Given the description of an element on the screen output the (x, y) to click on. 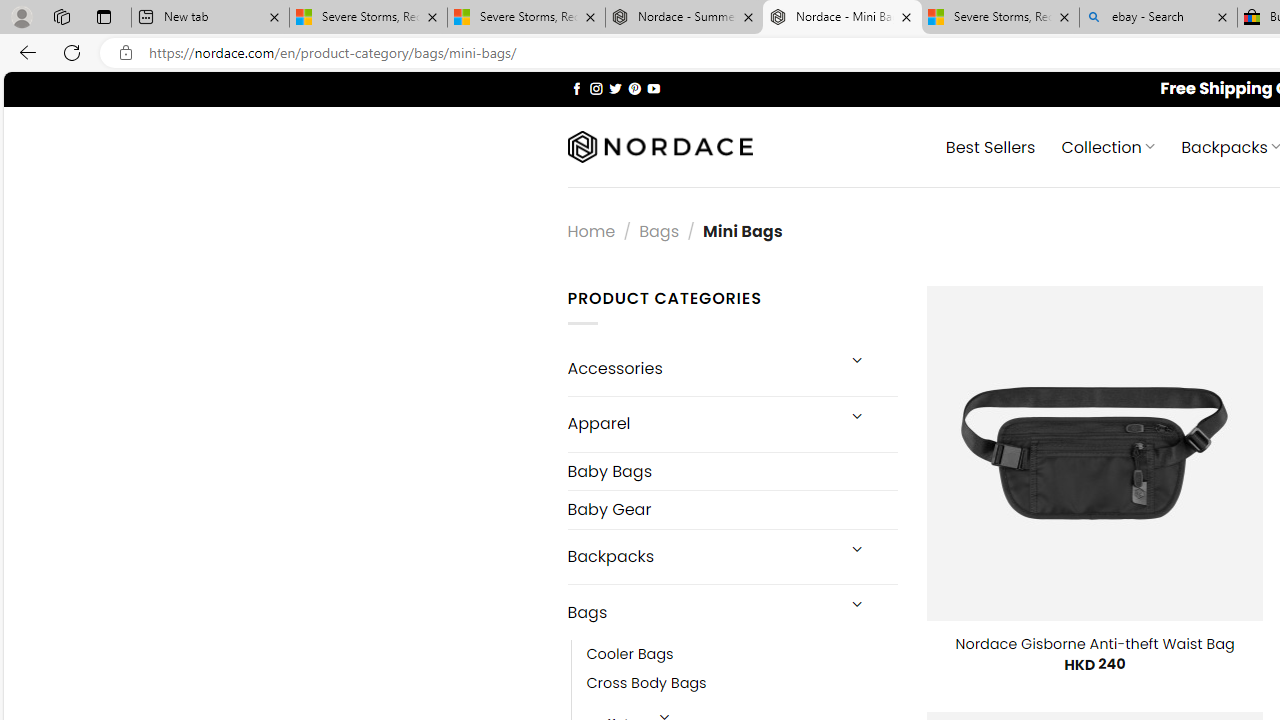
Cross Body Bags (742, 683)
Bags (700, 613)
  Best Sellers (989, 146)
Baby Bags (732, 470)
Nordace - Mini Bags (842, 17)
Cooler Bags (742, 655)
Apparel (700, 423)
Follow on Twitter (615, 88)
 Best Sellers (989, 146)
Nordace Gisborne Anti-theft Waist Bag (1094, 643)
Follow on Facebook (576, 88)
Baby Gear (732, 510)
